Given the description of an element on the screen output the (x, y) to click on. 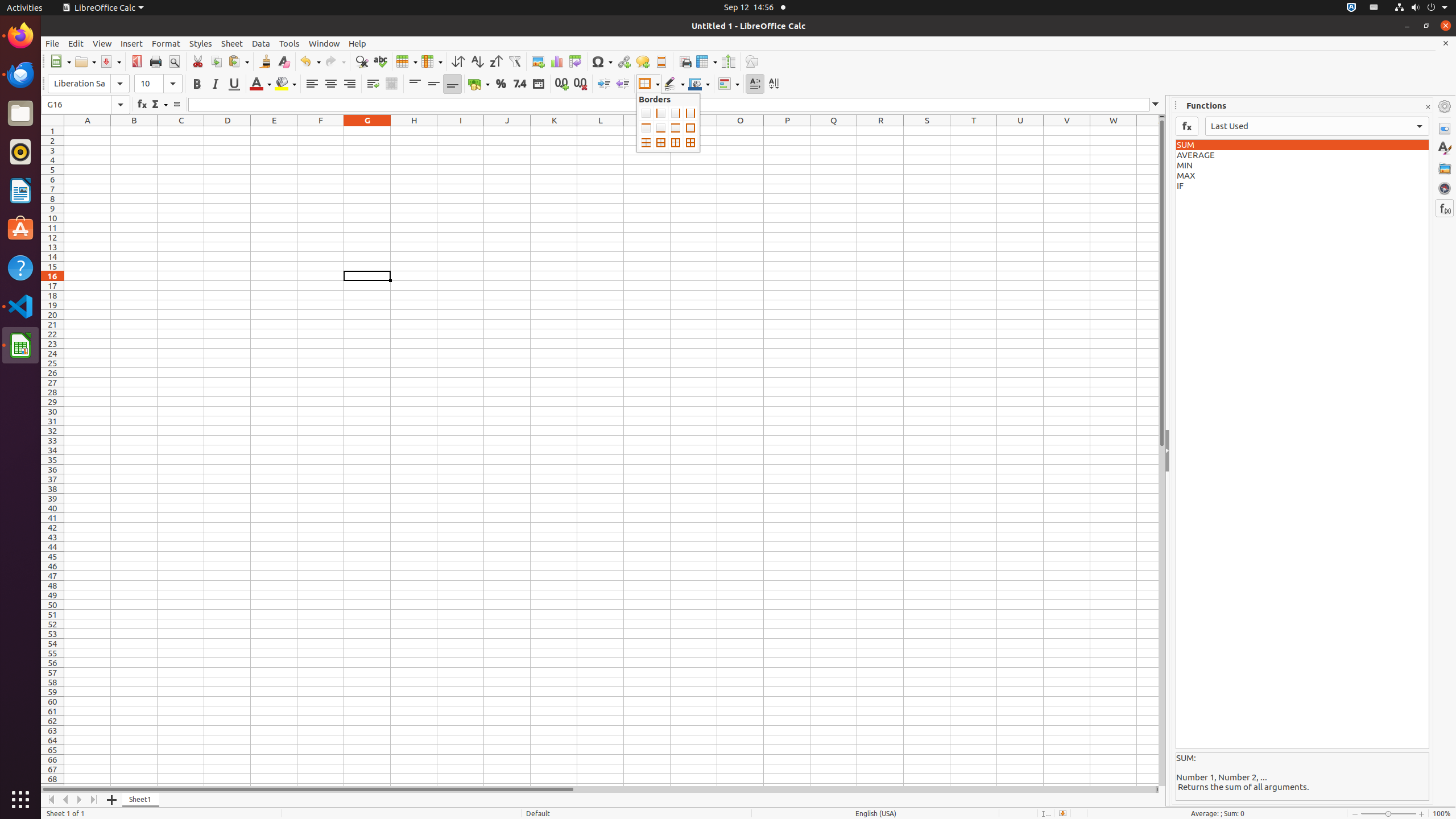
Window Element type: menu (324, 43)
Bold Element type: toggle-button (196, 83)
S1 Element type: table-cell (926, 130)
Center Vertically Element type: push-button (433, 83)
W1 Element type: table-cell (1113, 130)
